Given the description of an element on the screen output the (x, y) to click on. 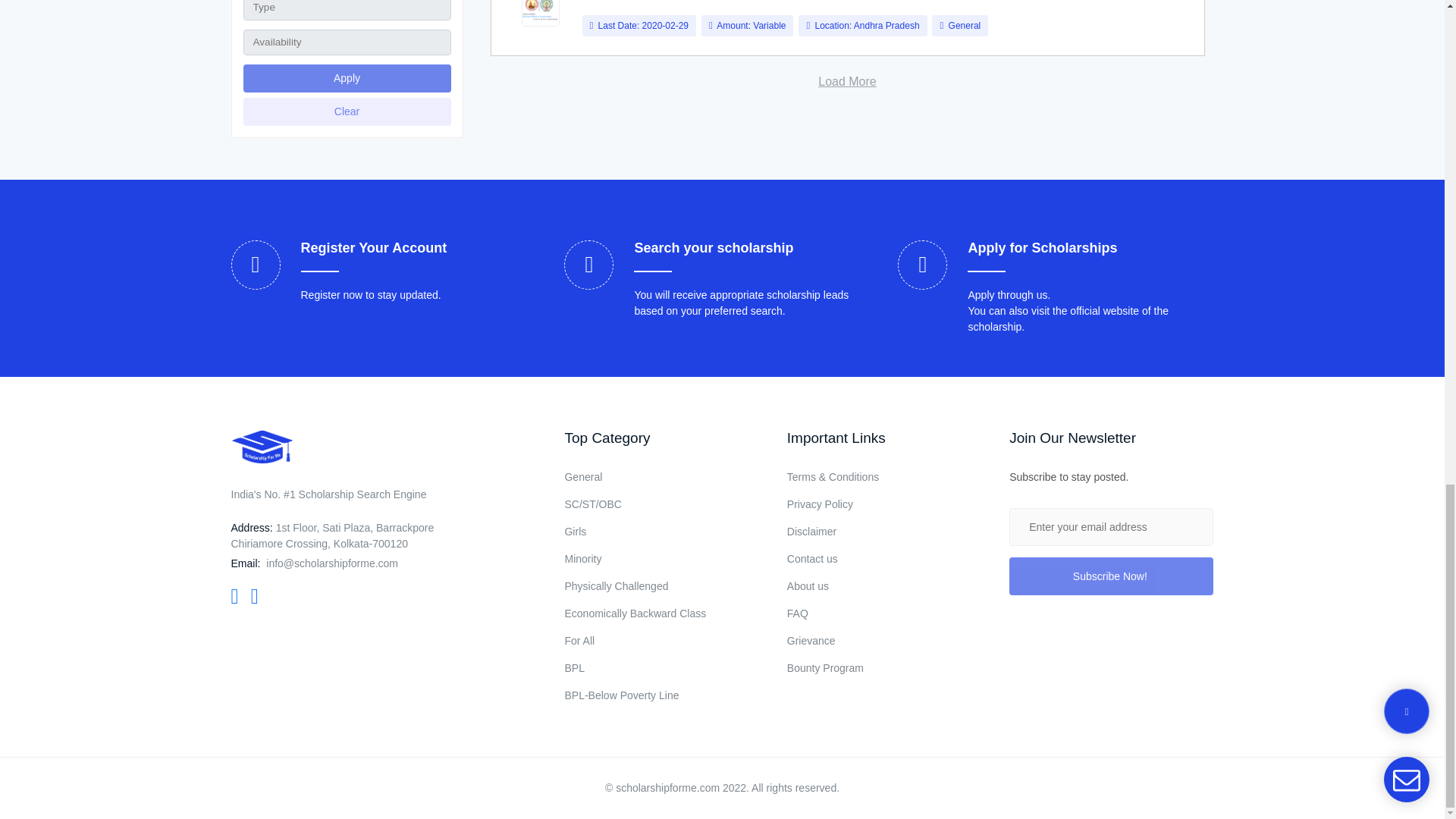
Load More (847, 81)
General (965, 25)
